Given the description of an element on the screen output the (x, y) to click on. 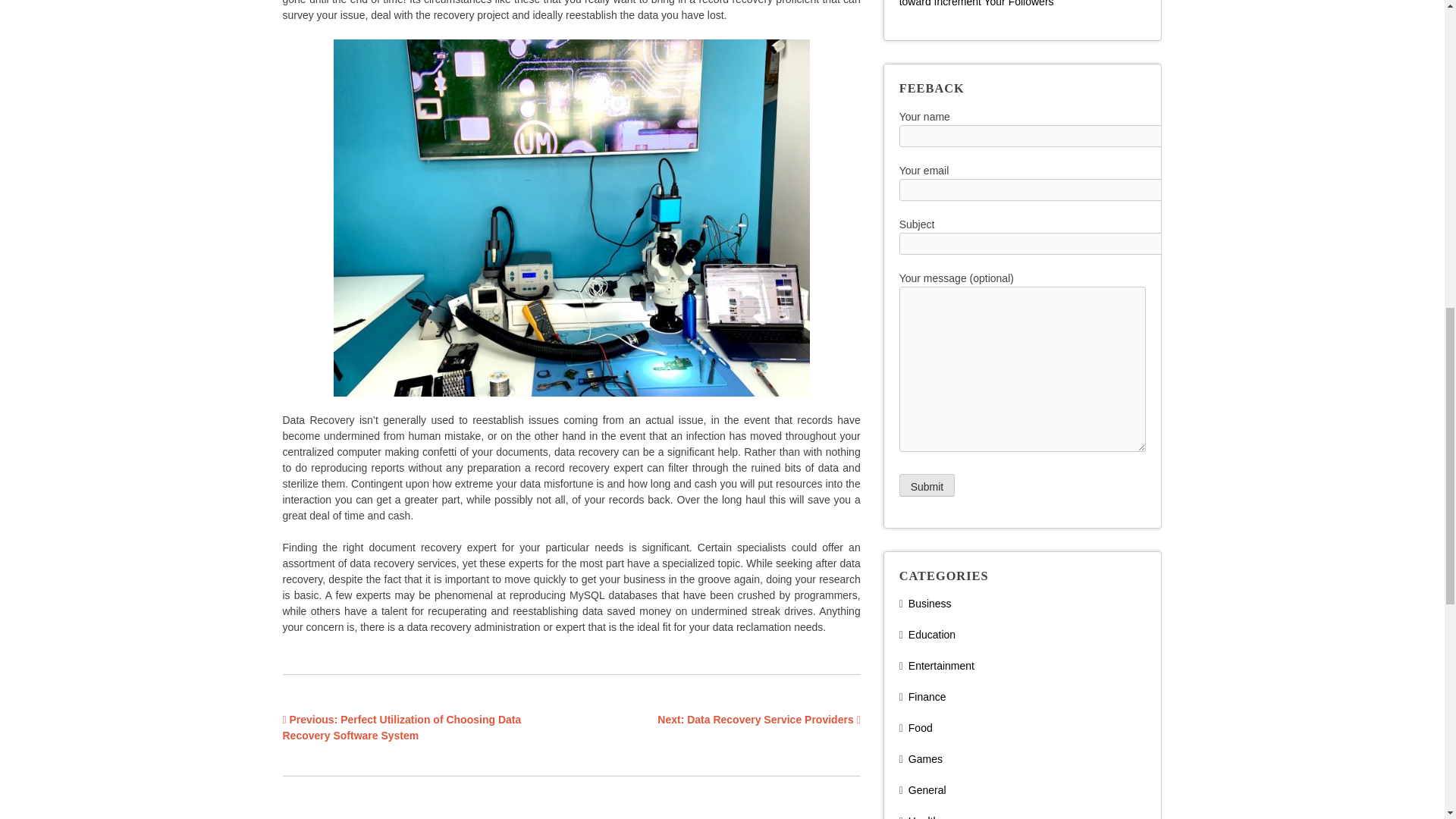
Entertainment (941, 665)
Business (930, 603)
Education (931, 634)
Games (925, 758)
General (927, 789)
Health (923, 816)
Next: Data Recovery Service Providers (759, 719)
Finance (927, 696)
Food (920, 727)
Submit (927, 485)
Submit (927, 485)
